Given the description of an element on the screen output the (x, y) to click on. 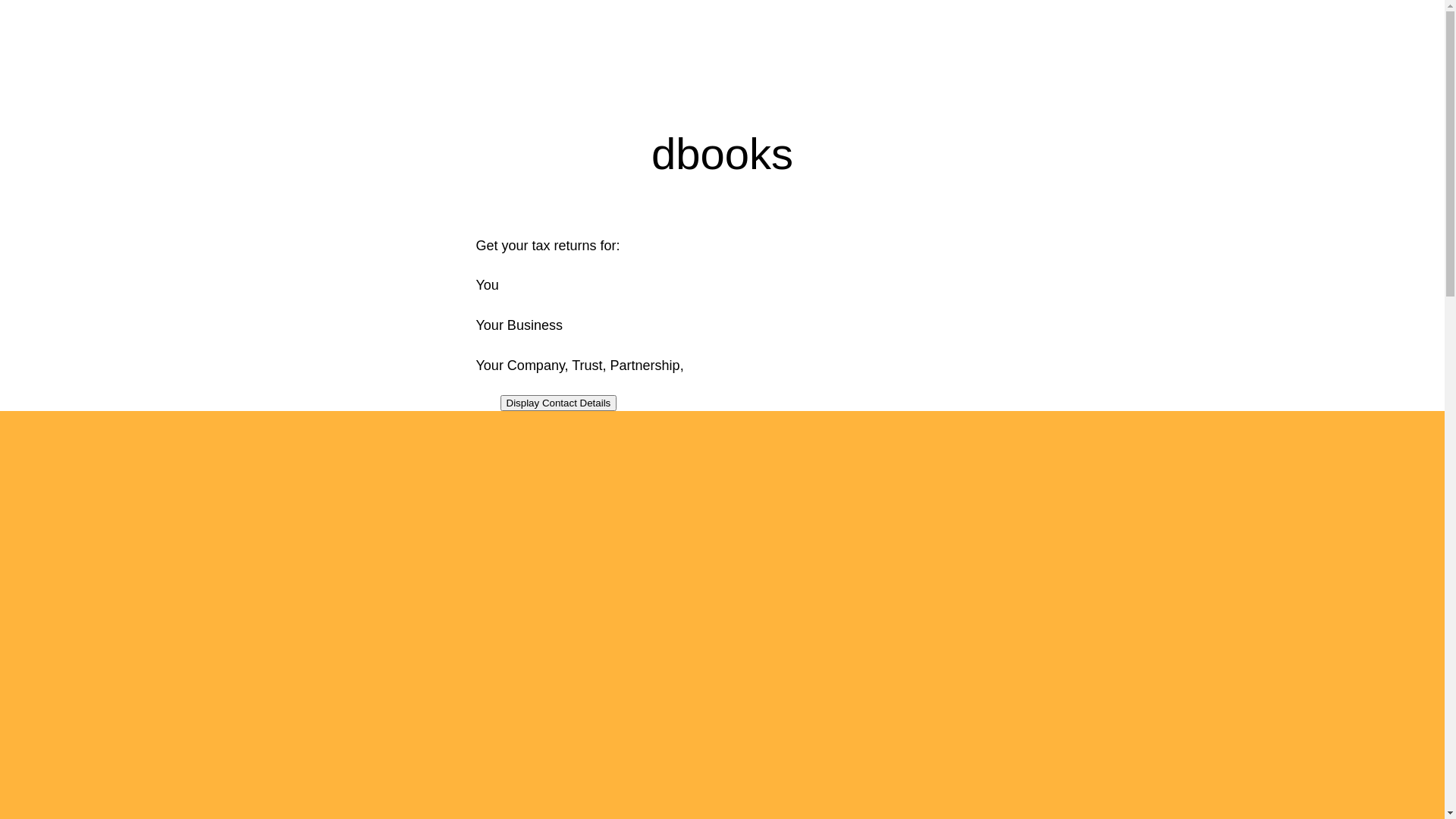
Display Contact Details Element type: text (558, 403)
